Given the description of an element on the screen output the (x, y) to click on. 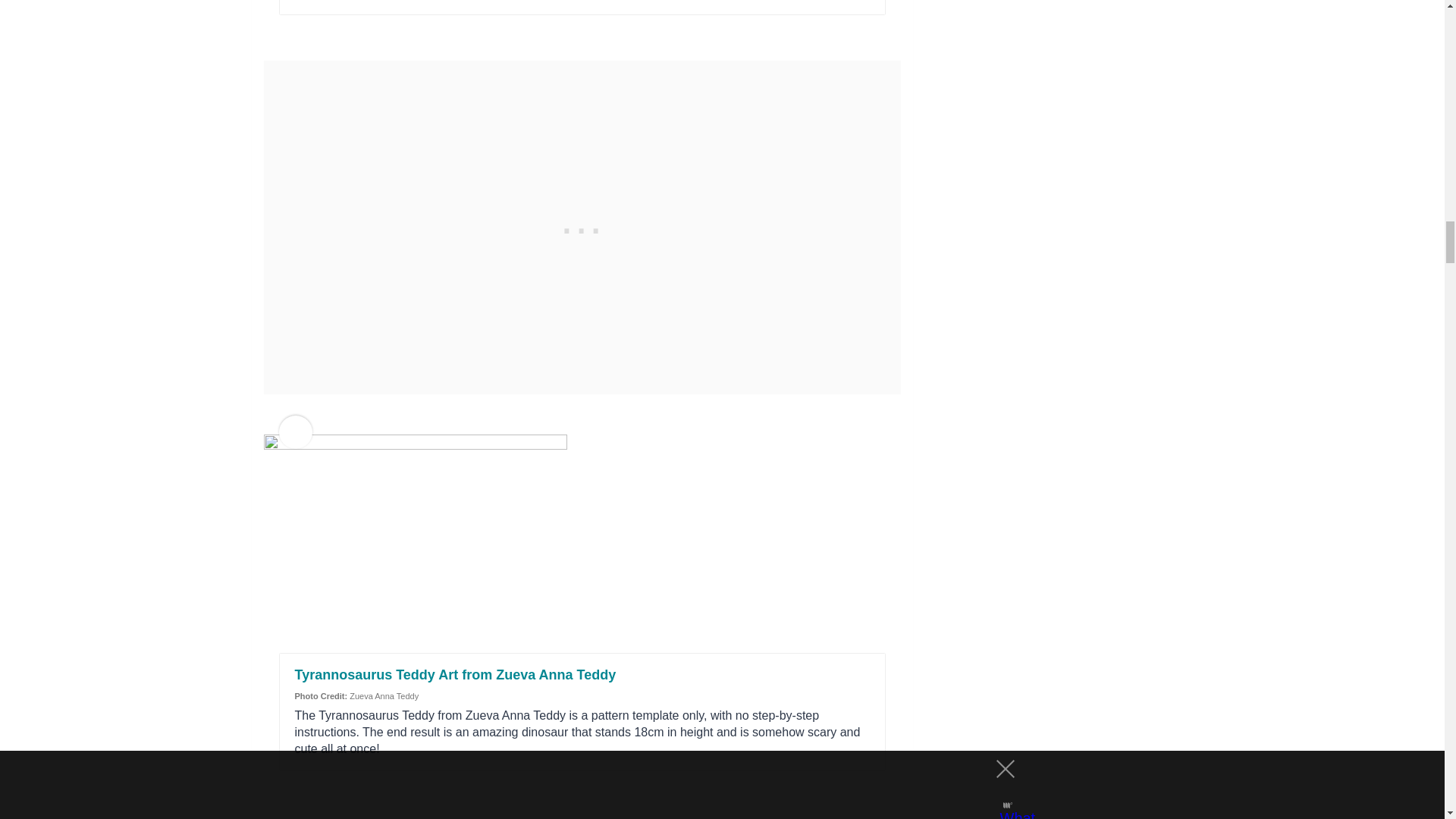
Tyrannosaurus Teddy Art from Zueva Anna Teddy (454, 674)
